Given the description of an element on the screen output the (x, y) to click on. 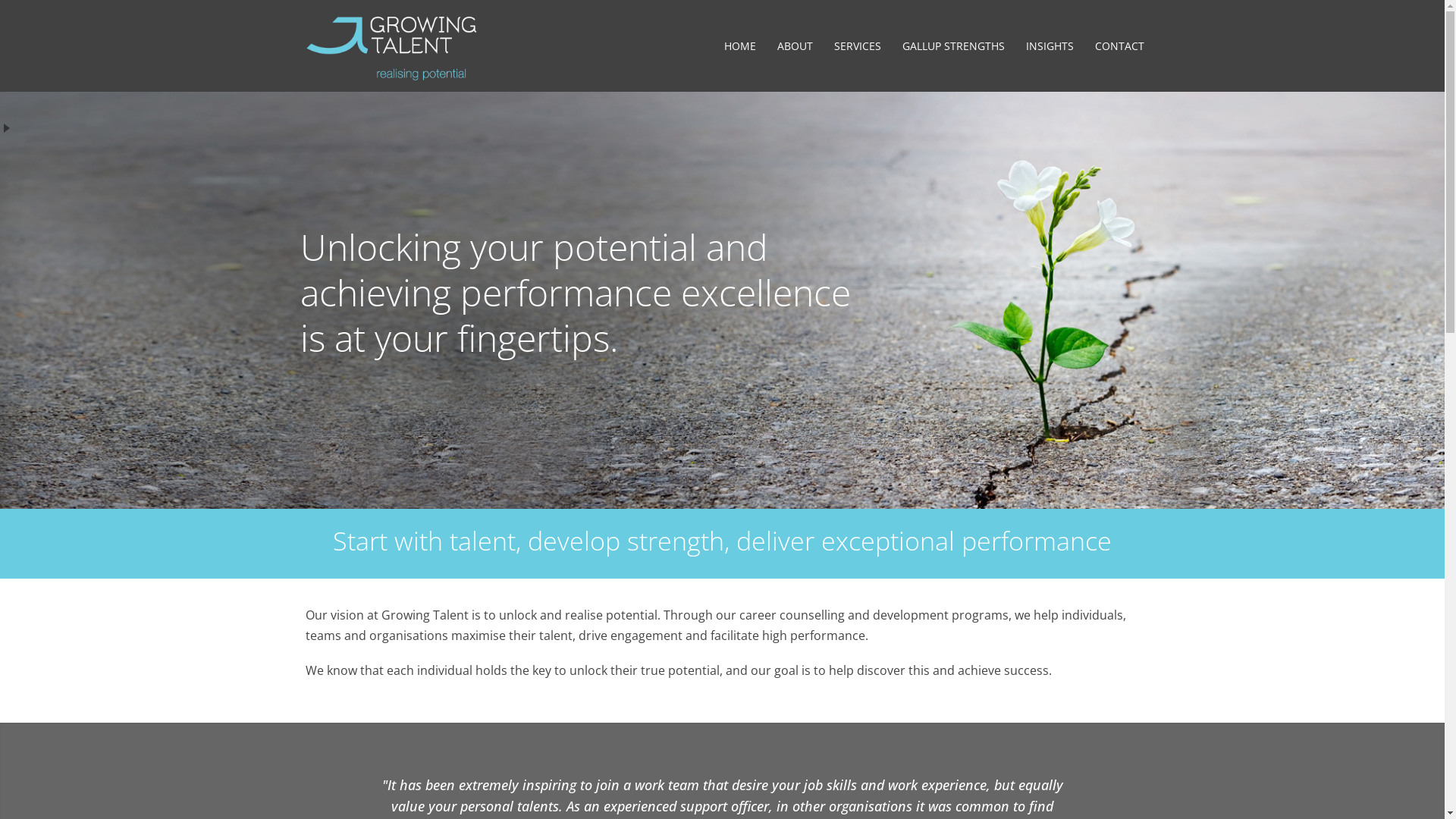
HOME Element type: text (738, 46)
INSIGHTS Element type: text (1048, 46)
CONTACT Element type: text (1119, 46)
ABOUT Element type: text (793, 46)
SERVICES Element type: text (857, 46)
GALLUP STRENGTHS Element type: text (953, 46)
